Given the description of an element on the screen output the (x, y) to click on. 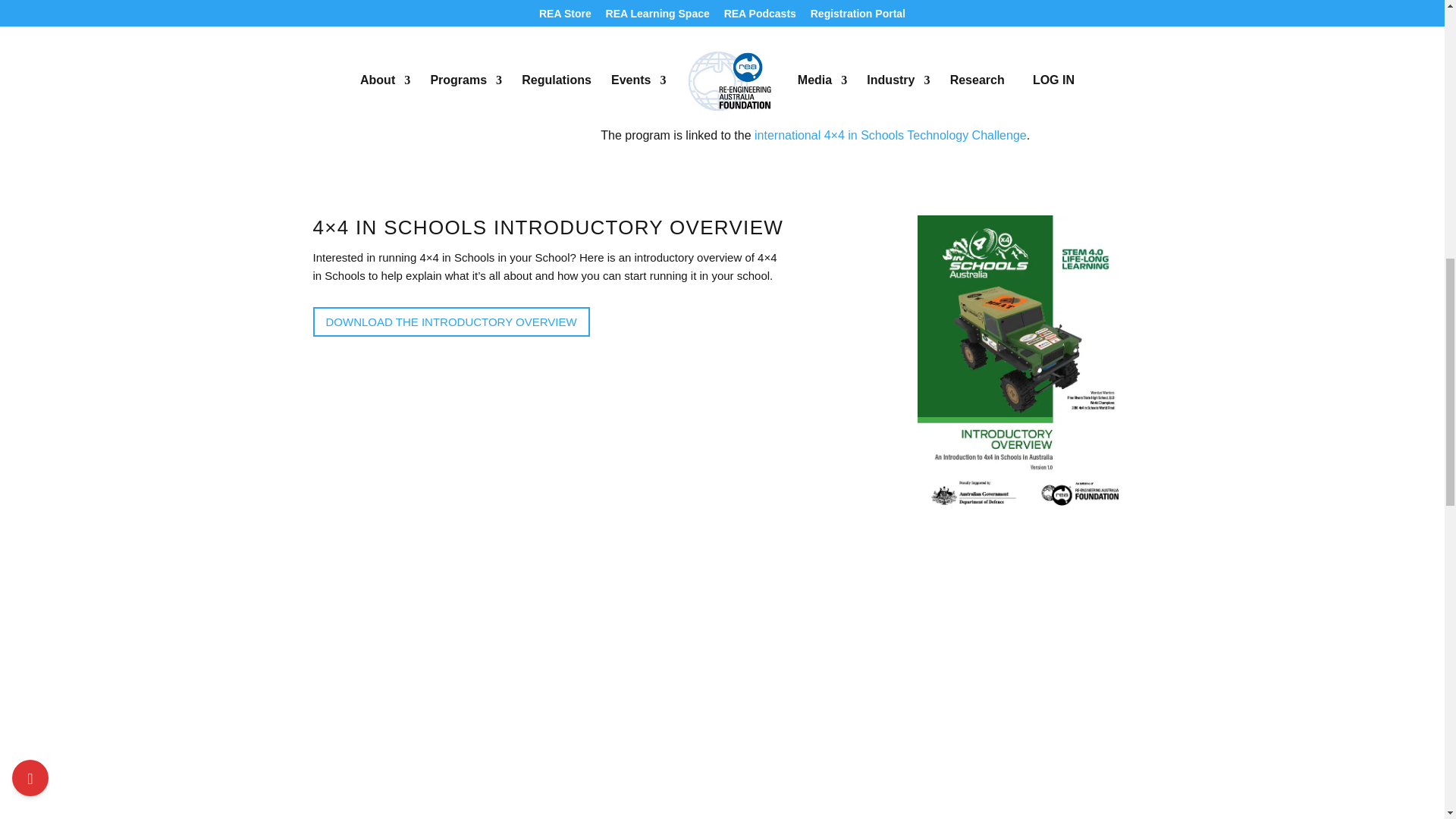
4x4 Introductory Overview 2020 (1024, 513)
WW WF 2016 REA Render FIxed (389, 103)
